Given the description of an element on the screen output the (x, y) to click on. 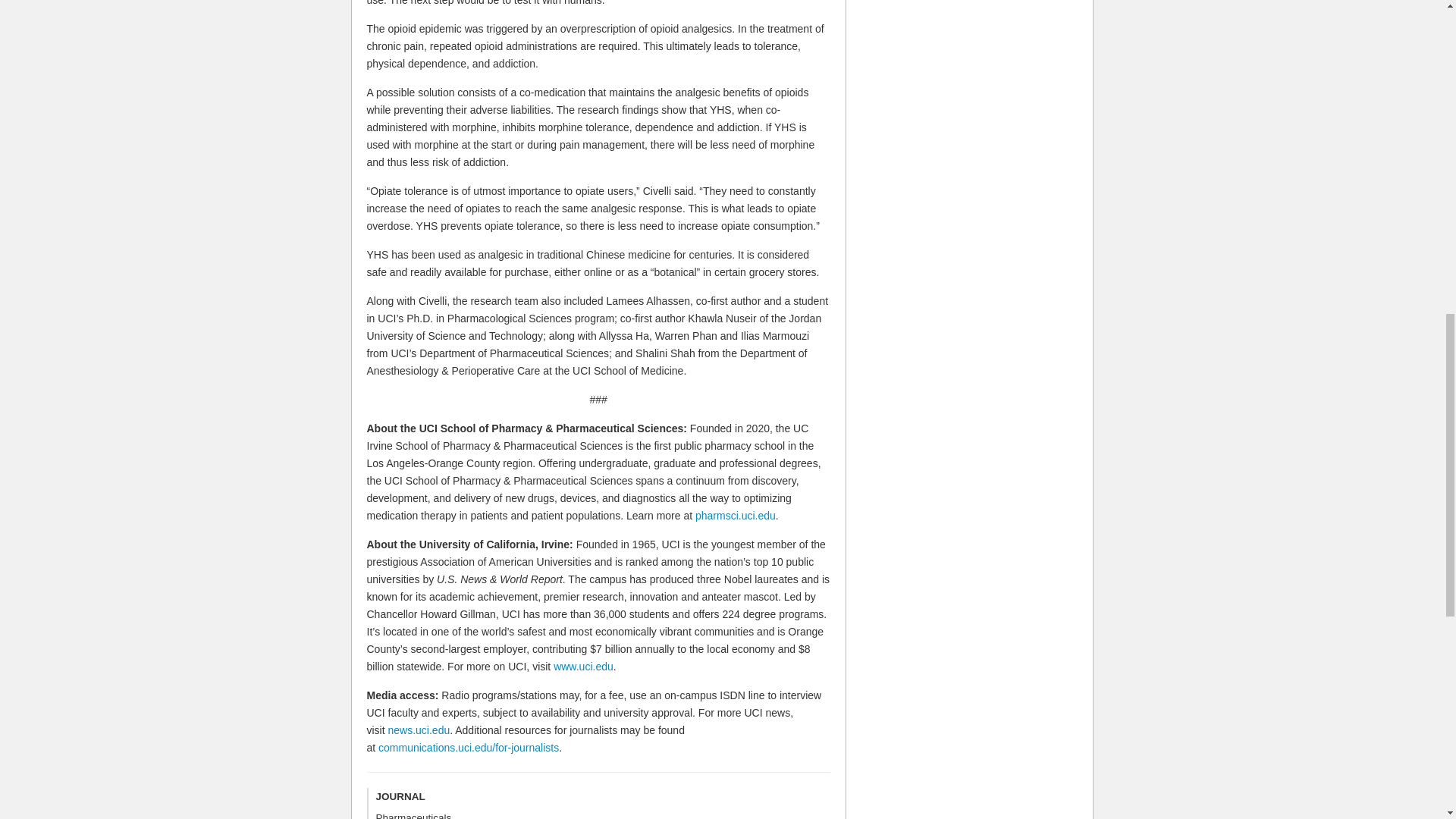
pharmsci.uci.edu (735, 515)
news.uci.edu (418, 729)
www.uci.edu (582, 666)
